Given the description of an element on the screen output the (x, y) to click on. 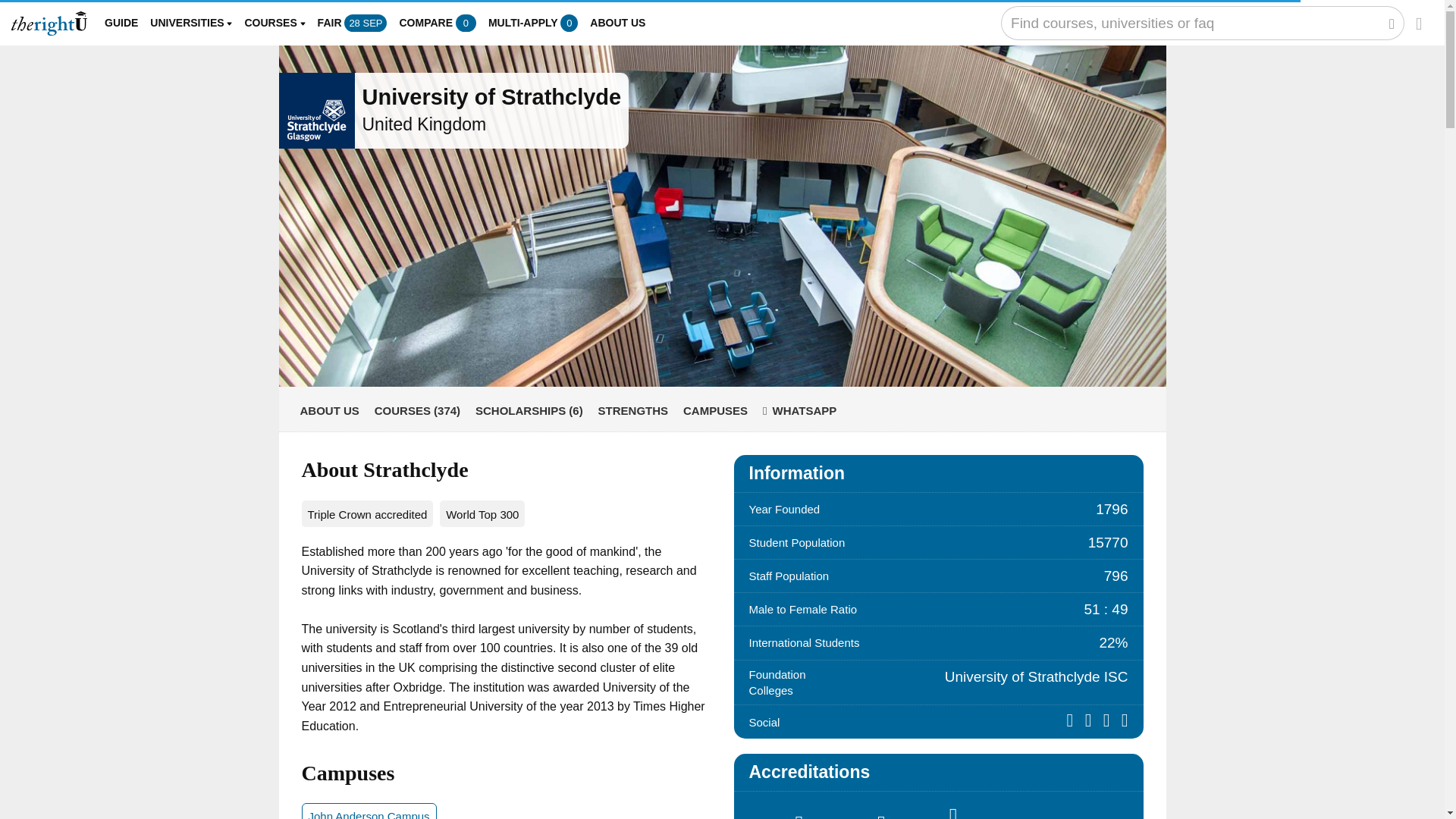
Drop us a Whatsapp message (798, 410)
ABOUT US (329, 410)
John Anderson Campus (368, 811)
facebook (1074, 721)
STRENGTHS (633, 410)
ABOUT US (616, 22)
Overseas Education Consultants - Find the Right University (49, 23)
FAIR 28 SEP (352, 22)
Flickr (1110, 721)
GUIDE (121, 22)
